Given the description of an element on the screen output the (x, y) to click on. 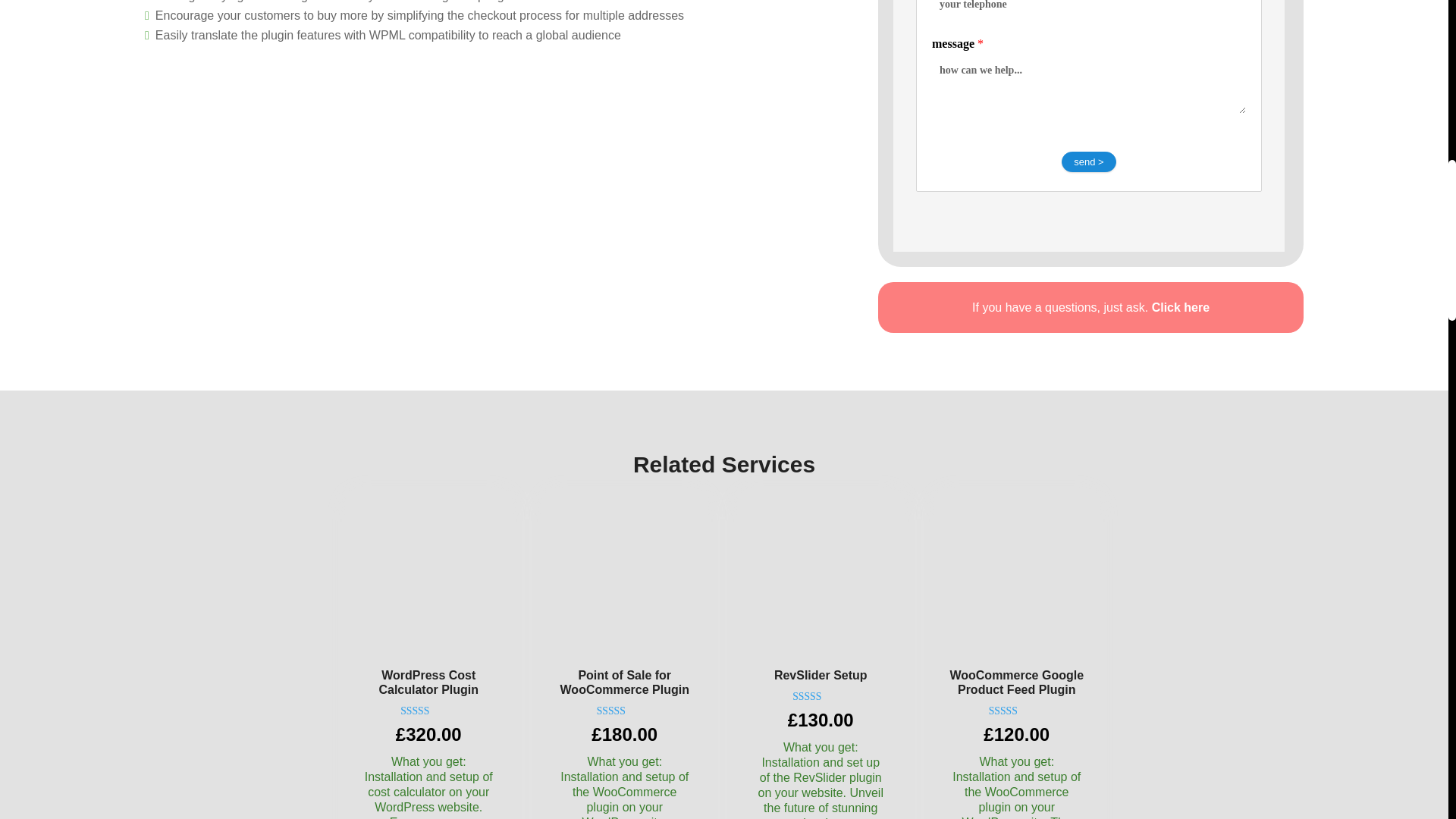
Click here (1180, 307)
